Given the description of an element on the screen output the (x, y) to click on. 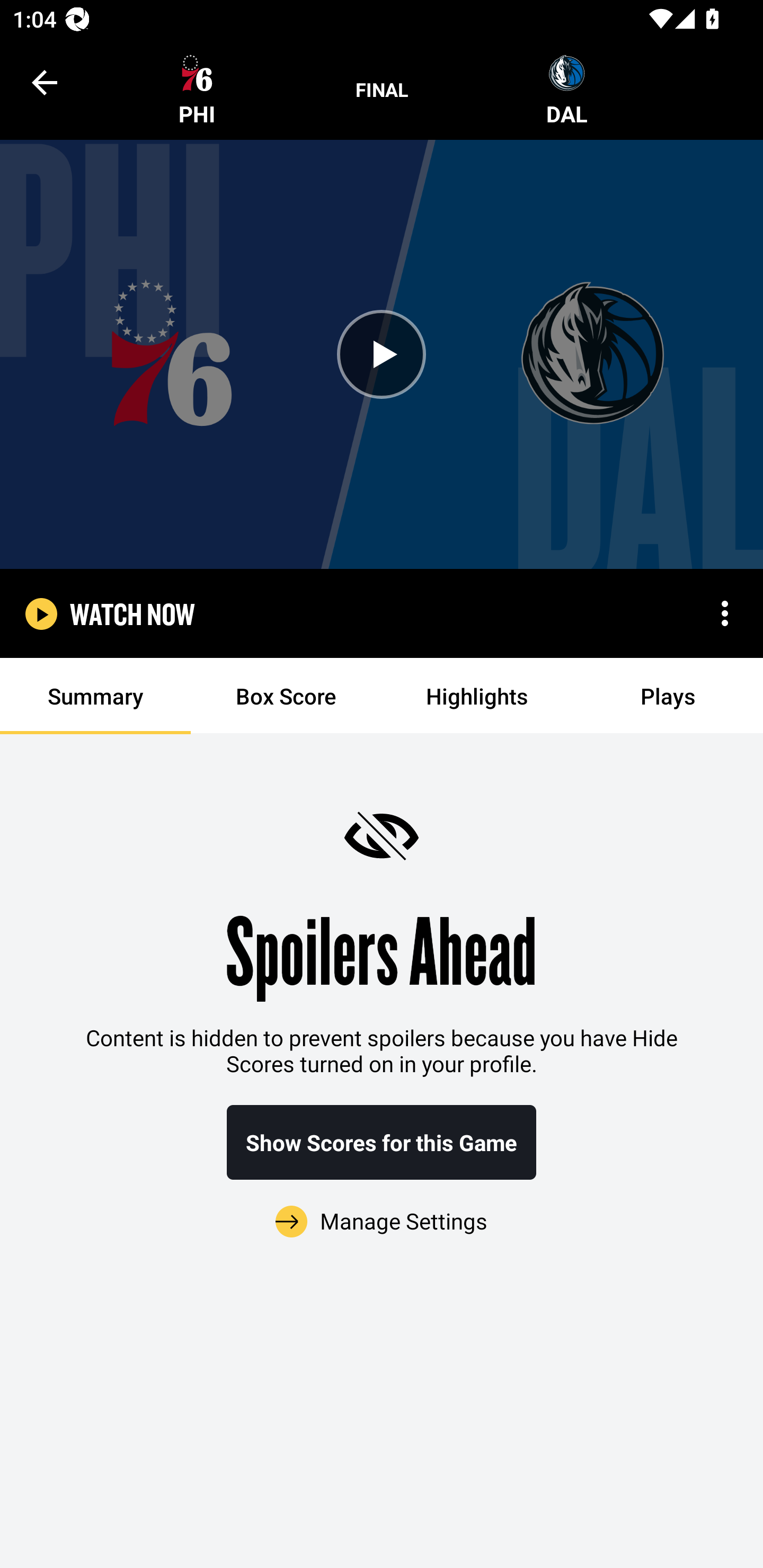
Navigate up (44, 82)
More options (724, 613)
WATCH NOW (132, 613)
Box Score (285, 695)
Highlights (476, 695)
Plays (667, 695)
Show Scores for this Game (381, 1141)
Manage Settings (381, 1210)
